Given the description of an element on the screen output the (x, y) to click on. 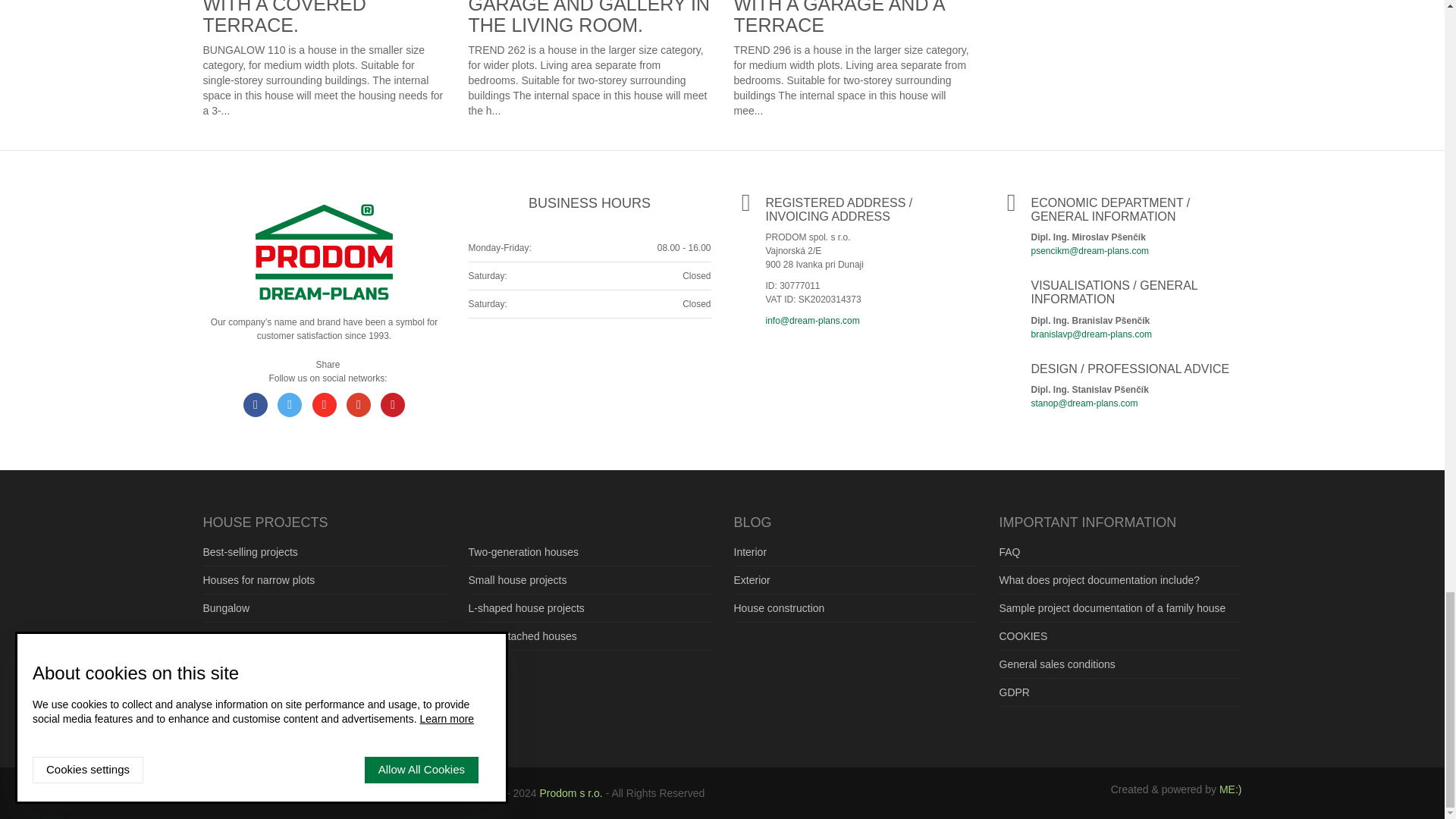
dream-plans.com (323, 251)
